Given the description of an element on the screen output the (x, y) to click on. 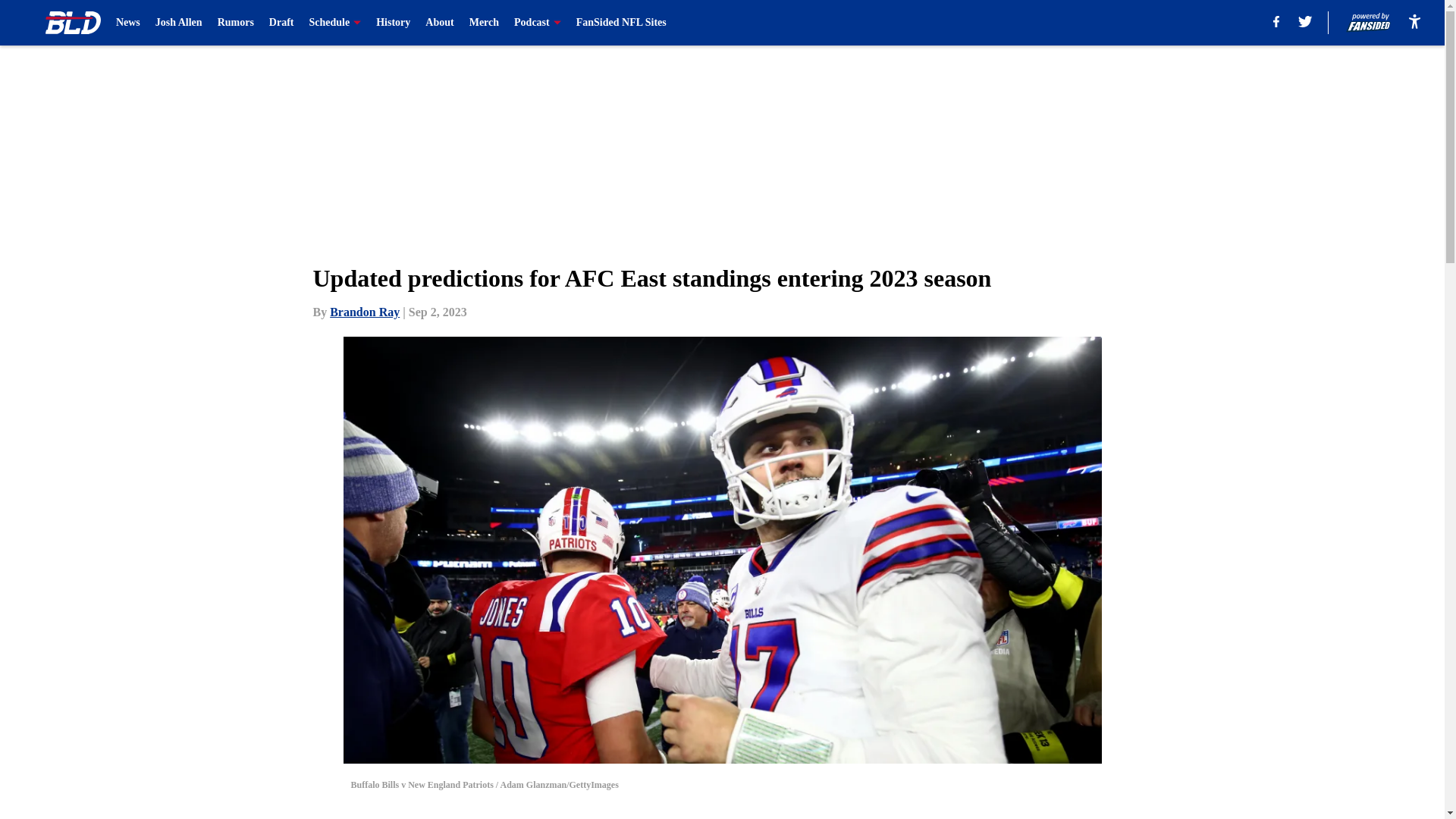
History (392, 22)
Merch (483, 22)
Brandon Ray (364, 311)
About (438, 22)
Draft (281, 22)
FanSided NFL Sites (621, 22)
Josh Allen (178, 22)
Rumors (234, 22)
News (127, 22)
